Given the description of an element on the screen output the (x, y) to click on. 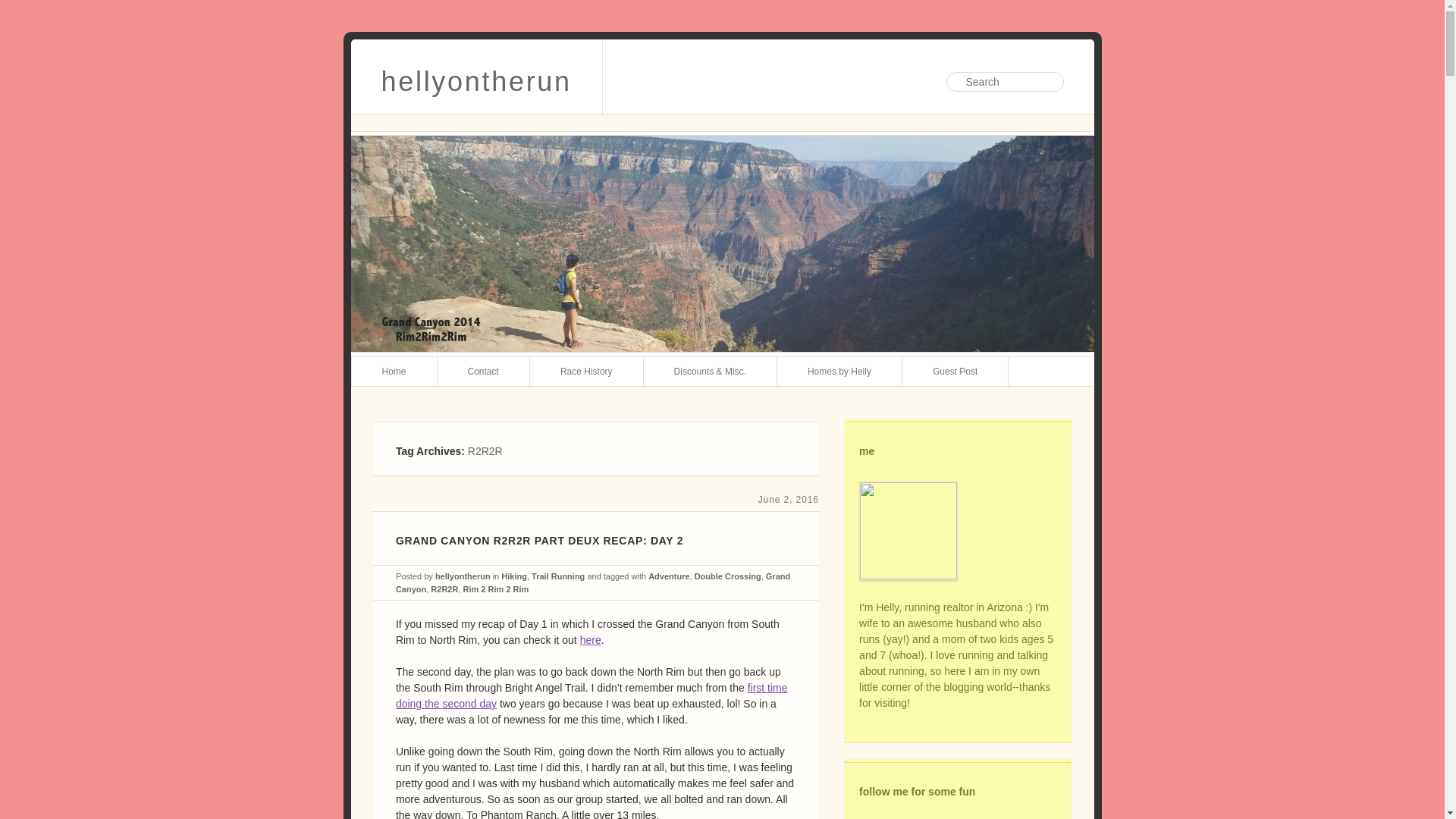
Contact (483, 371)
hellyontherun (462, 575)
hellyontherun (476, 76)
here (590, 639)
View all posts by hellyontherun (462, 575)
Rim 2 Rim 2 Rim (496, 587)
first time doing the second day (591, 695)
Home (395, 371)
Adventure (667, 575)
Homes by Helly (839, 371)
